Given the description of an element on the screen output the (x, y) to click on. 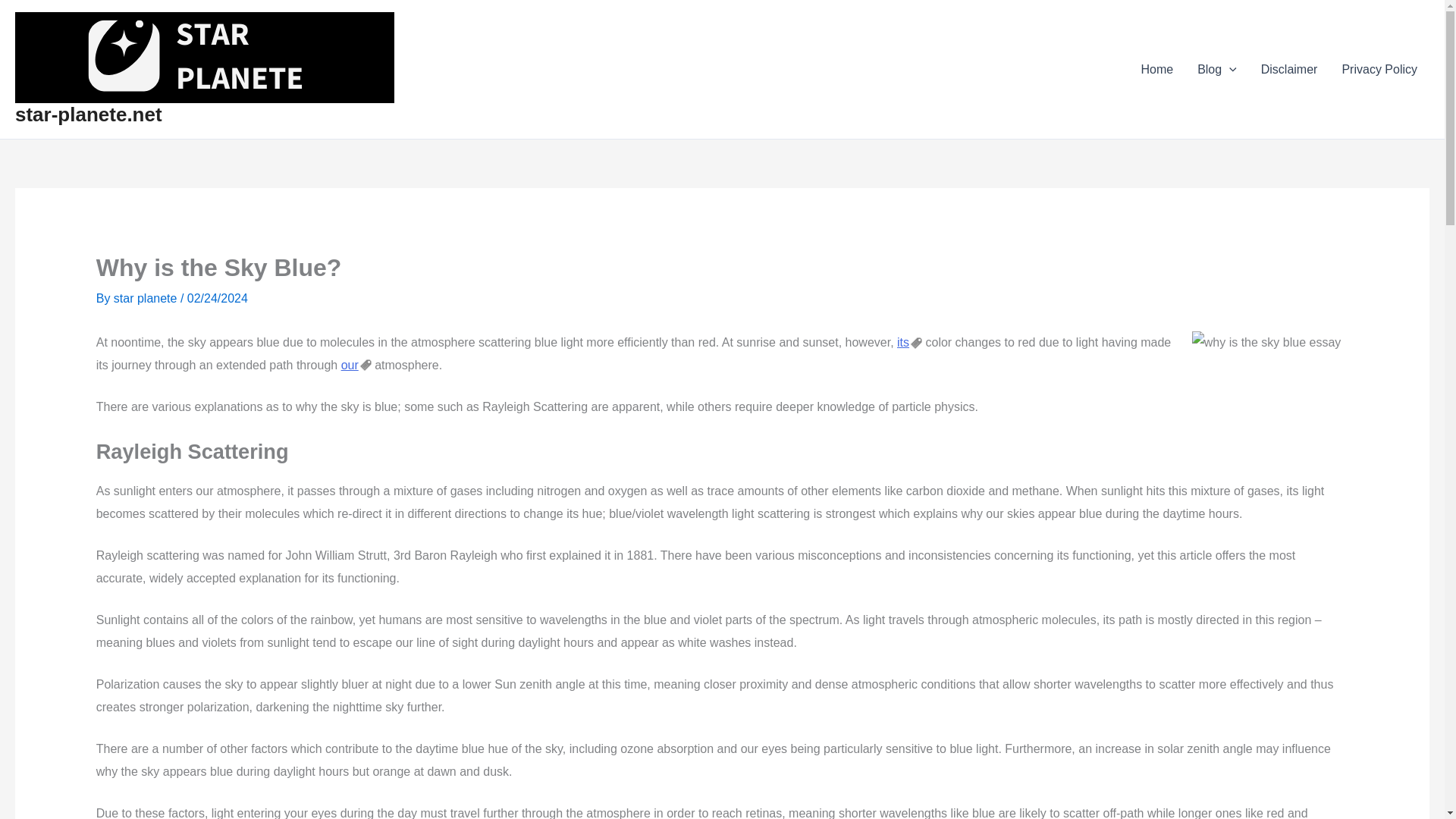
star-planete.net (87, 114)
View all posts by star planete (146, 297)
Home (1156, 69)
Blog (1217, 69)
